Given the description of an element on the screen output the (x, y) to click on. 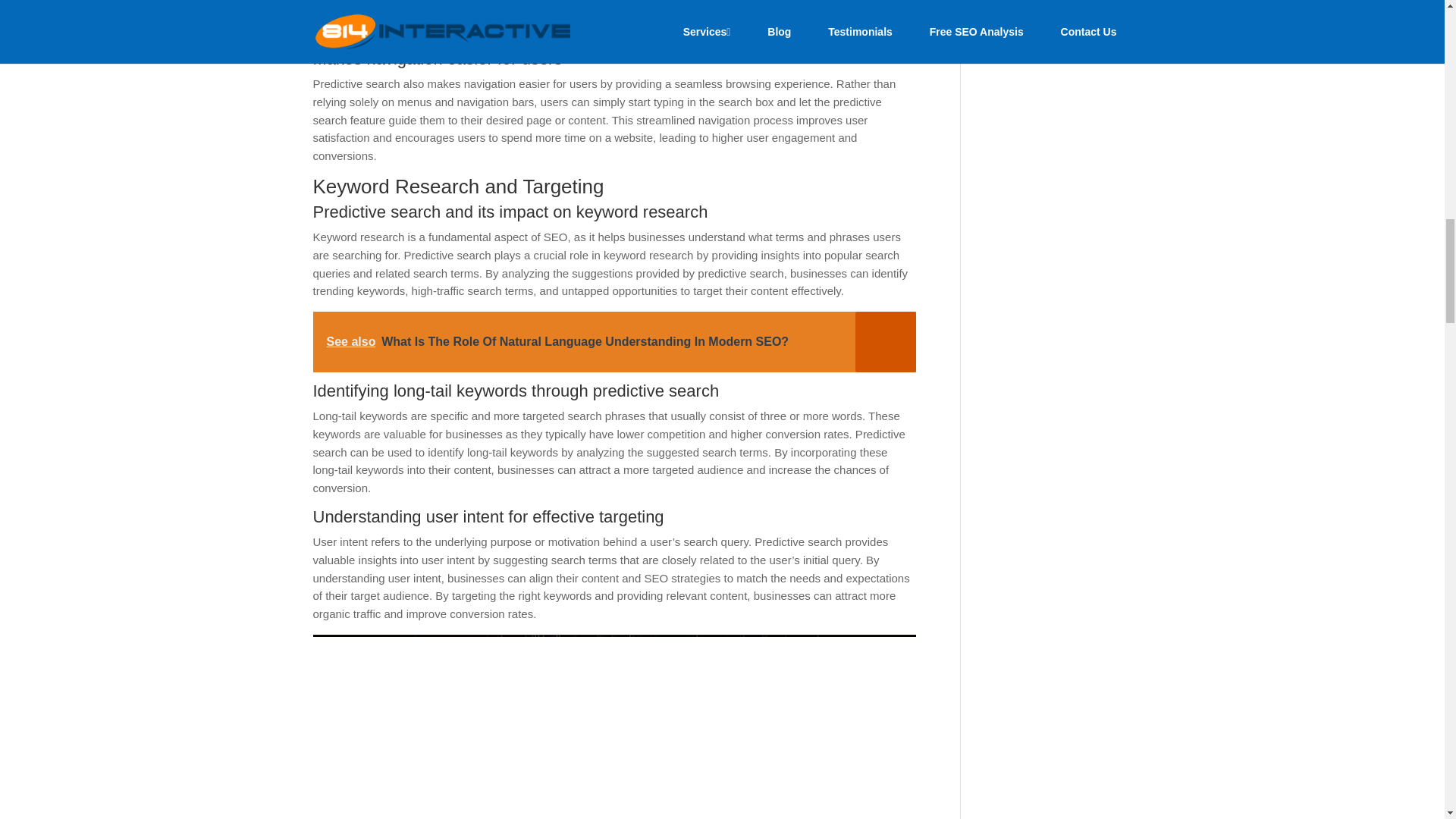
What Is The Role Of Predictive Search In Modern SEO? (614, 726)
